Given the description of an element on the screen output the (x, y) to click on. 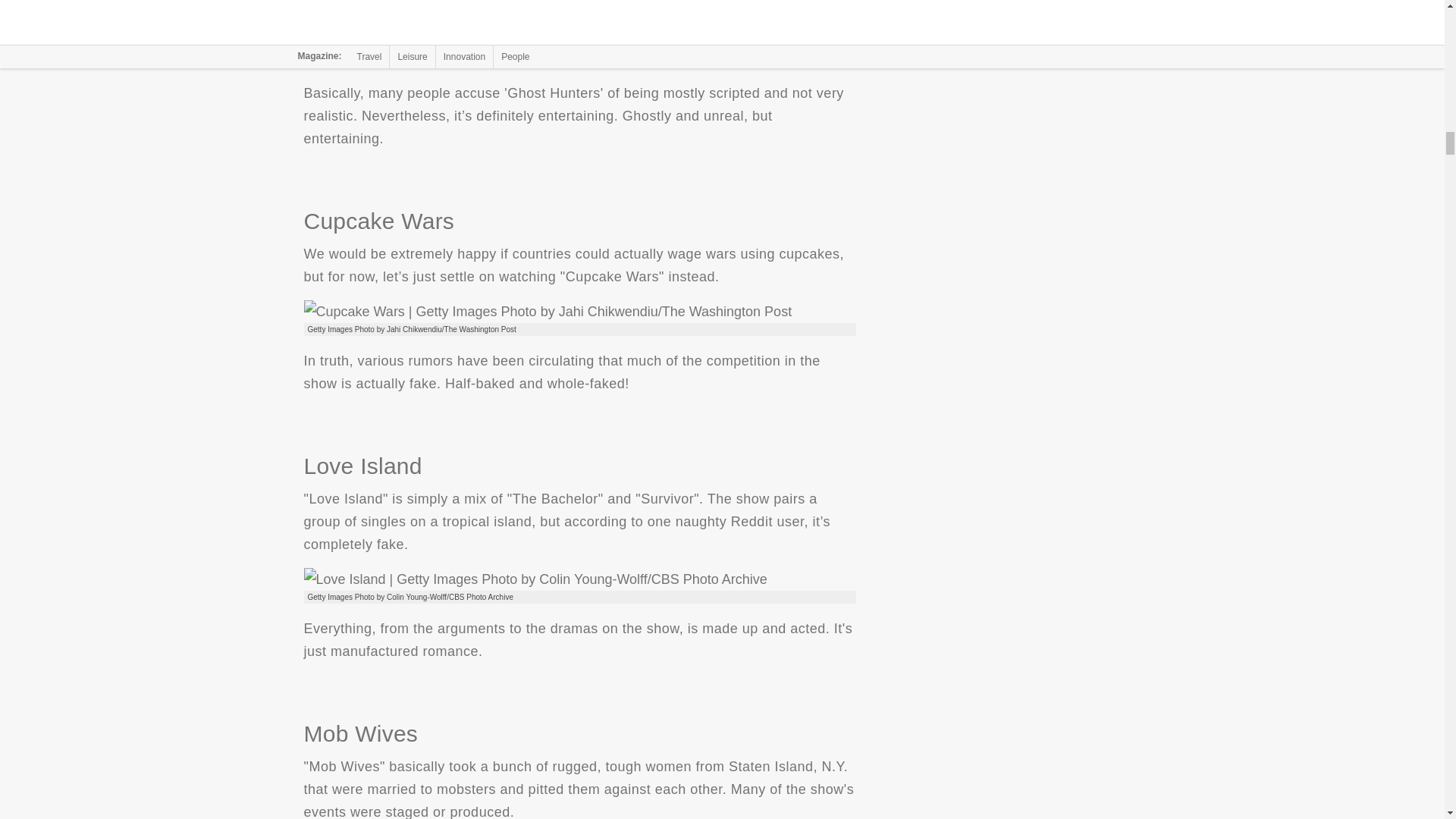
Love Island (534, 579)
Ghost Hunters (471, 43)
Cupcake Wars (547, 311)
